Given the description of an element on the screen output the (x, y) to click on. 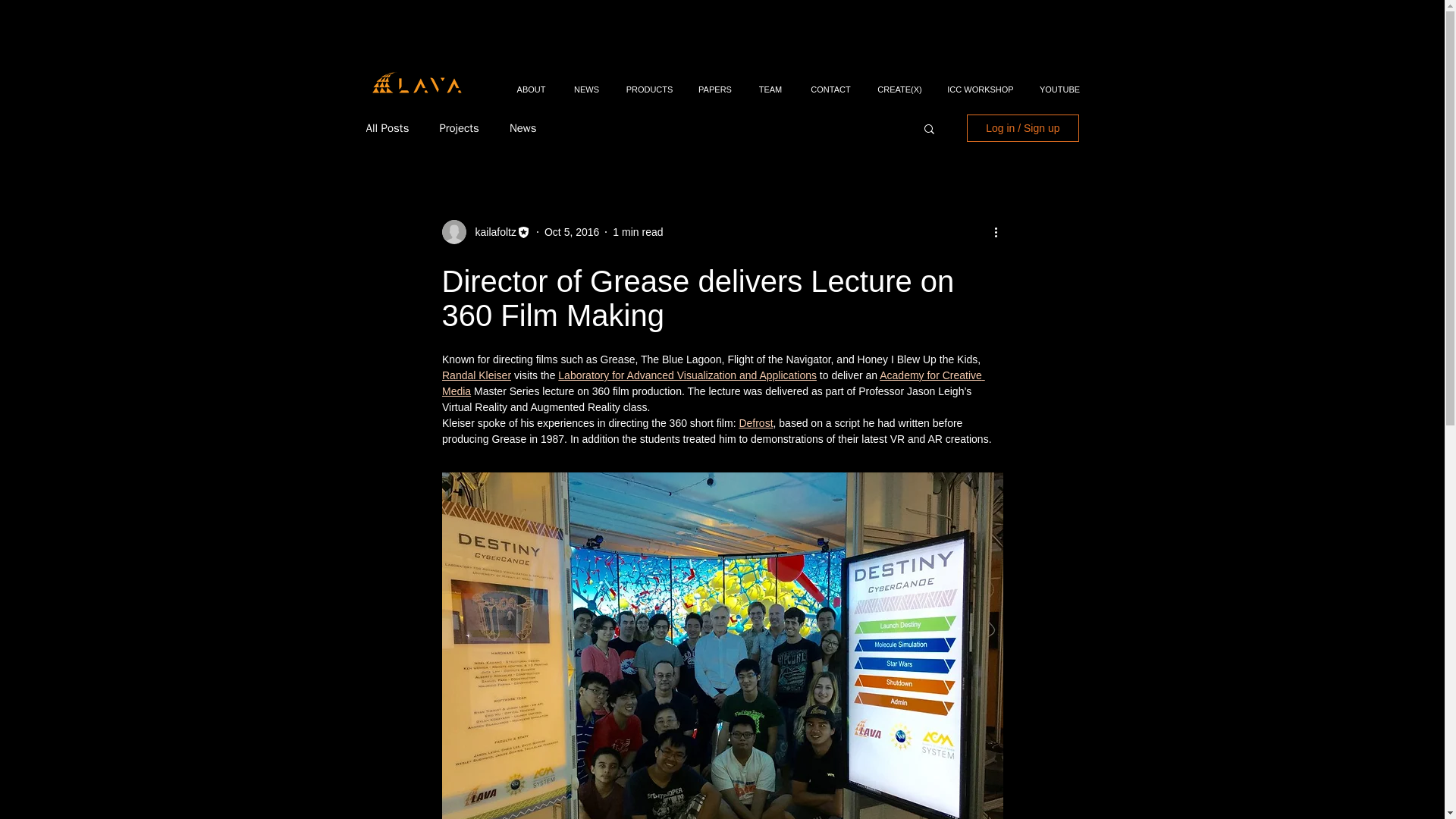
All Posts (387, 128)
ABOUT (530, 82)
YOUTUBE (1059, 82)
Randal Kleiser (476, 375)
News (523, 128)
NEWS (585, 82)
Academy for Creative Media (712, 383)
1 min read (637, 232)
PAPERS (714, 82)
PRODUCTS (648, 82)
TEAM (770, 82)
Oct 5, 2016 (571, 232)
ICC WORKSHOP (980, 82)
Projects (459, 128)
Laboratory for Advanced Visualization and Applications (686, 375)
